Given the description of an element on the screen output the (x, y) to click on. 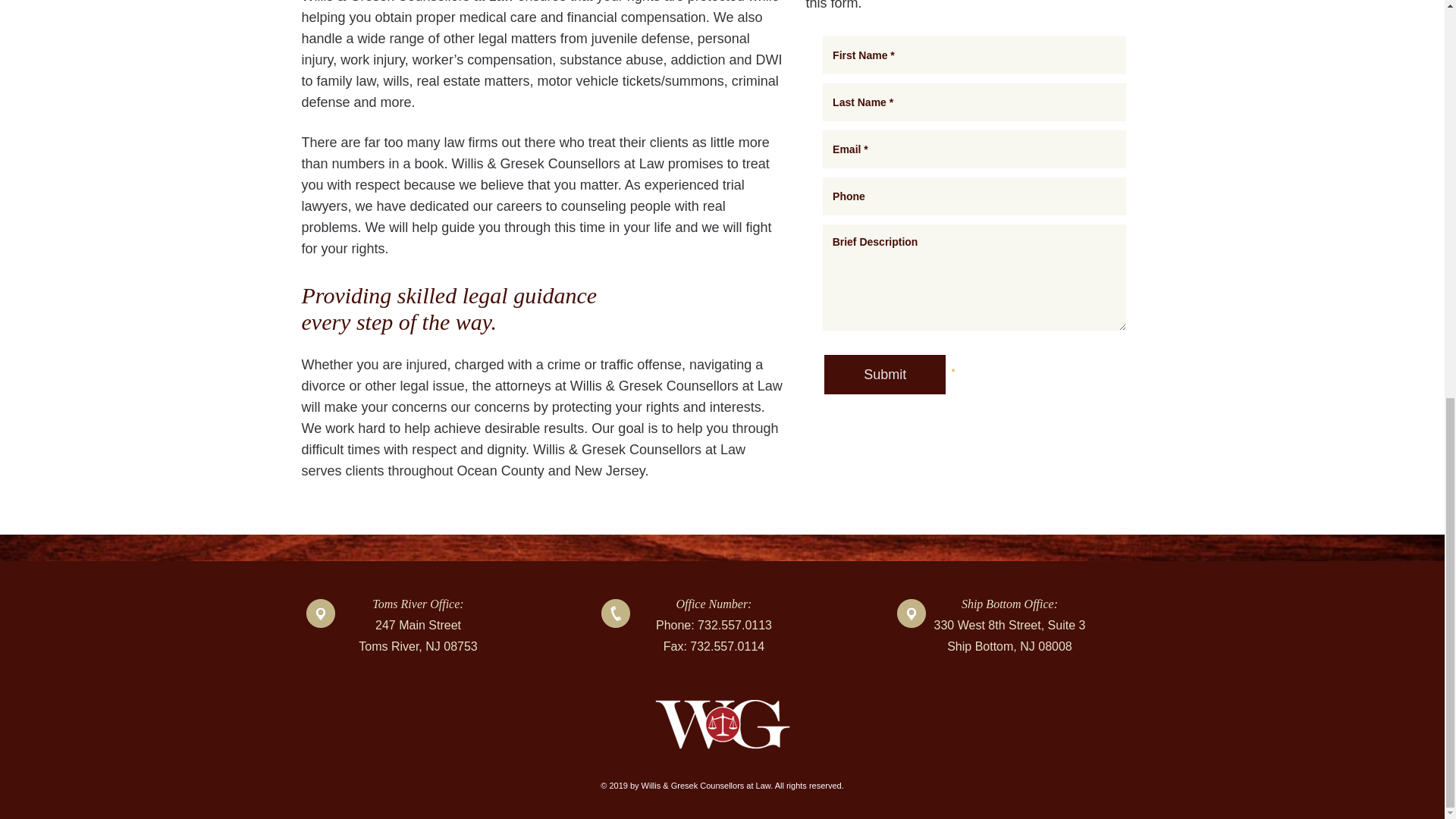
732.557.0113 (734, 625)
Submit (884, 373)
Submit (884, 373)
